Given the description of an element on the screen output the (x, y) to click on. 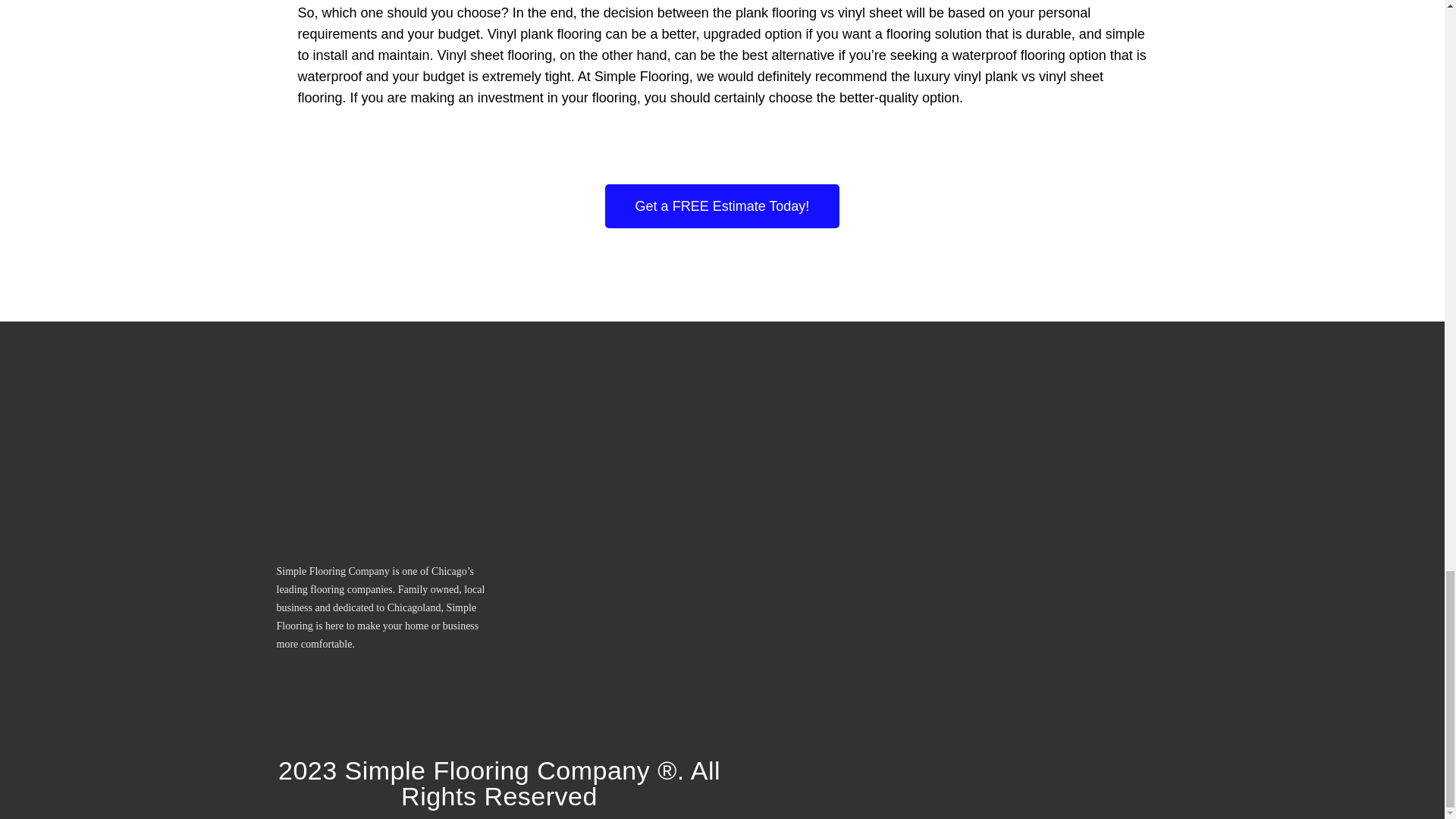
Get a FREE Estimate Today! (722, 206)
